Given the description of an element on the screen output the (x, y) to click on. 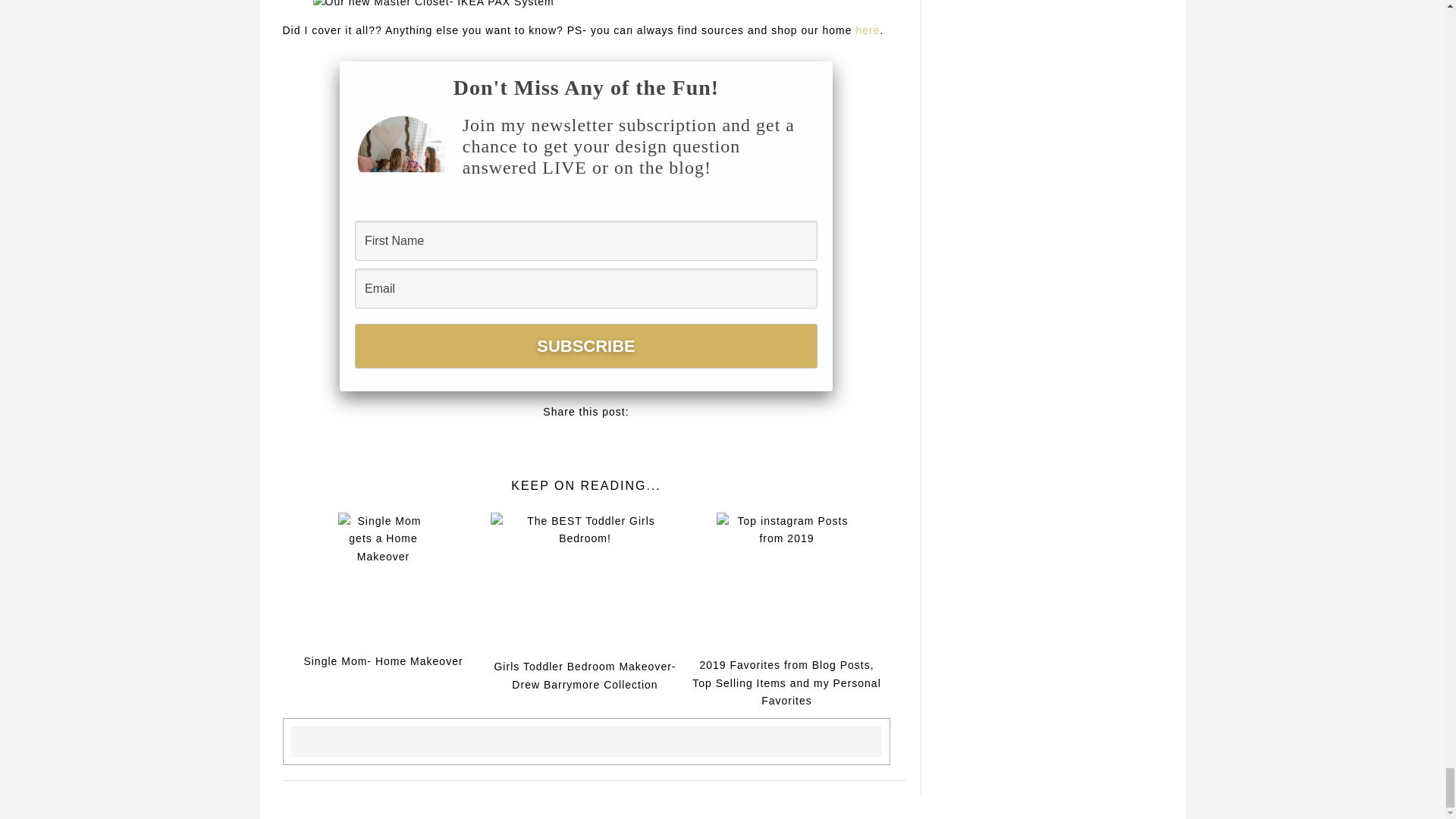
here (867, 30)
Subscribe (585, 345)
Permanent Link to Single Mom- Home Makeover (383, 587)
Permanent Link to Single Mom- Home Makeover (382, 661)
Subscribe (585, 345)
